Given the description of an element on the screen output the (x, y) to click on. 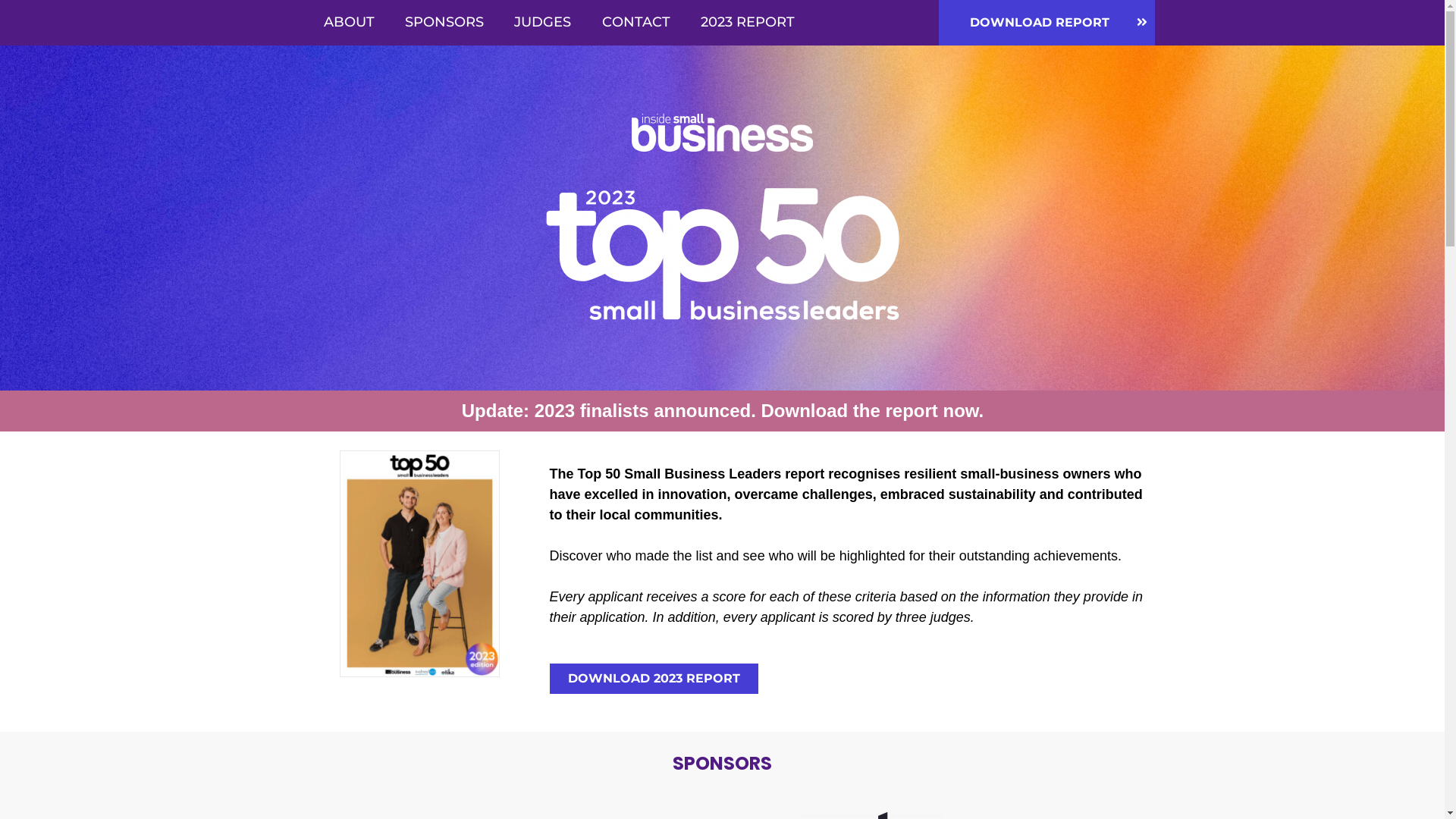
ABOUT Element type: text (348, 22)
DOWNLOAD REPORT Element type: text (1046, 22)
Inside Small Business Element type: hover (721, 132)
DOWNLOAD 2023 REPORT Element type: text (653, 678)
SPONSORS Element type: text (444, 22)
CONTACT Element type: text (636, 22)
Top 50 Small Business Leaders Element type: hover (722, 253)
JUDGES Element type: text (542, 22)
2023 REPORT Element type: text (747, 22)
